Given the description of an element on the screen output the (x, y) to click on. 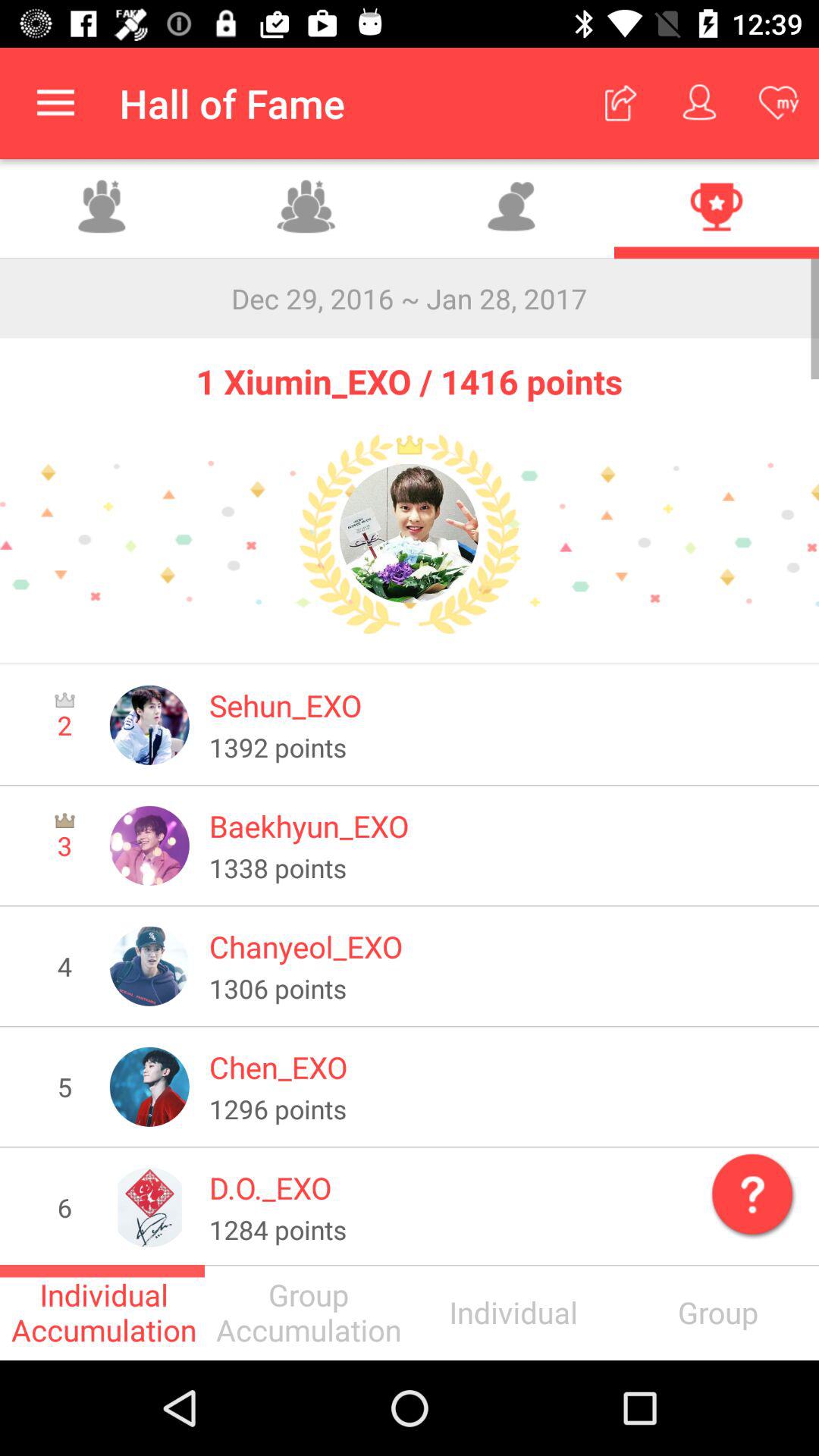
scroll until the d.o._exo (504, 1187)
